Given the description of an element on the screen output the (x, y) to click on. 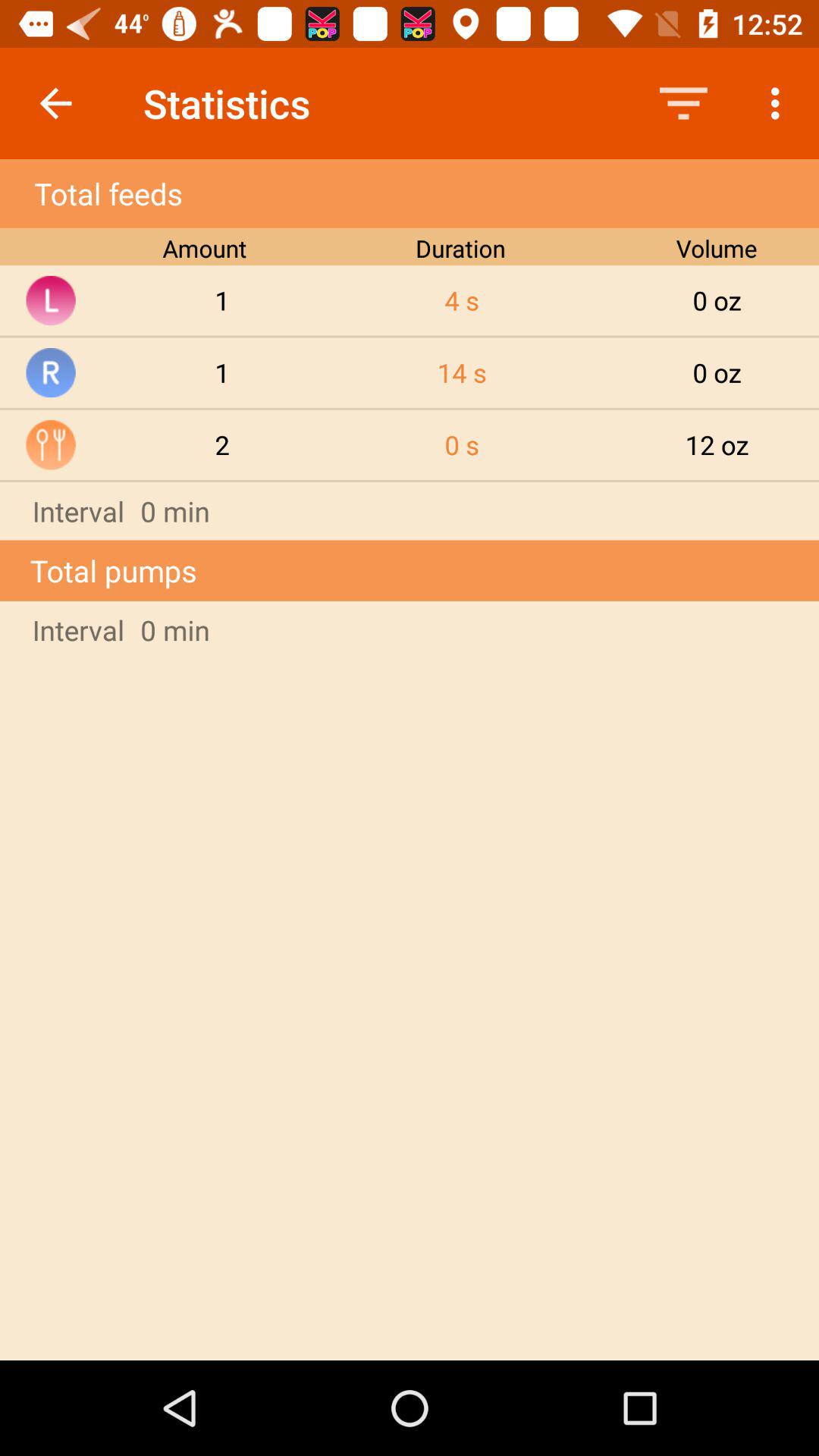
select 2 item (221, 445)
